Given the description of an element on the screen output the (x, y) to click on. 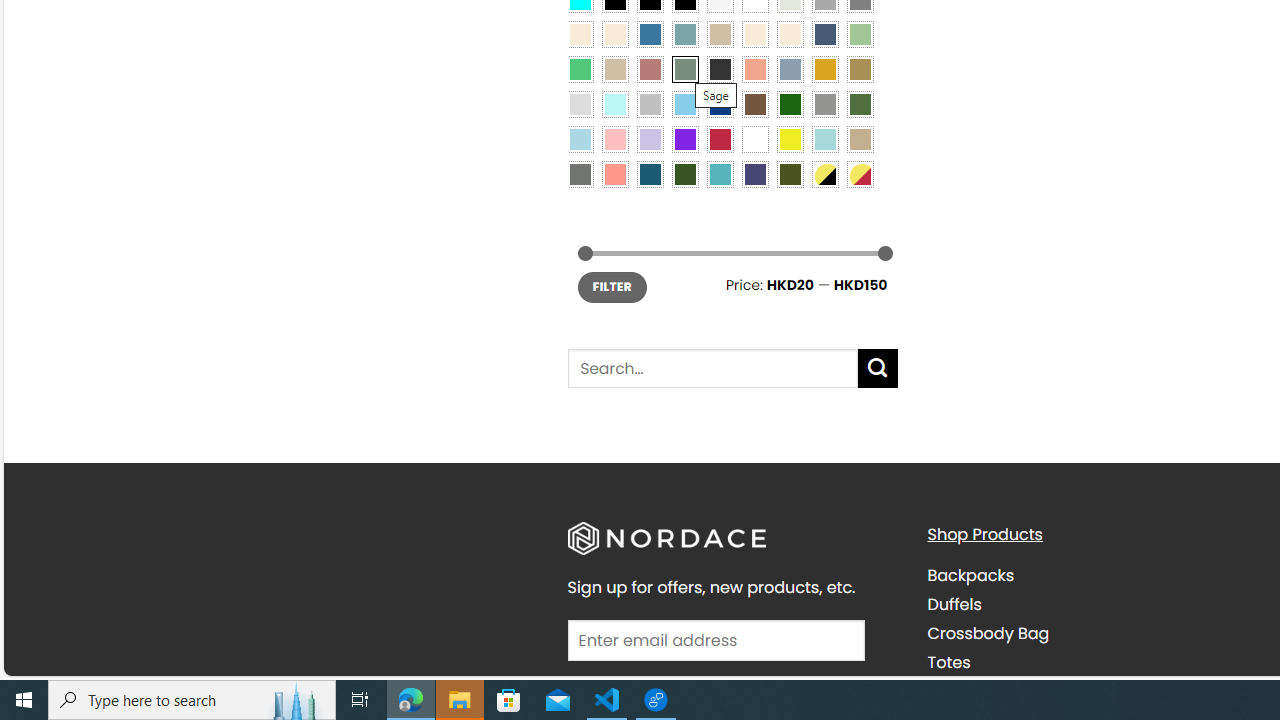
Rose (650, 69)
Yellow-Black (824, 174)
Beige (579, 33)
Blue (650, 33)
AutomationID: field_4_1 (716, 641)
Silver (650, 103)
Duffels (953, 605)
Forest (684, 174)
Coral (755, 69)
Dark Green (789, 103)
Kelp (859, 69)
Crossbody Bag (1092, 633)
Khaki (859, 138)
AutomationID: input_4_1 (716, 639)
Army Green (789, 174)
